Given the description of an element on the screen output the (x, y) to click on. 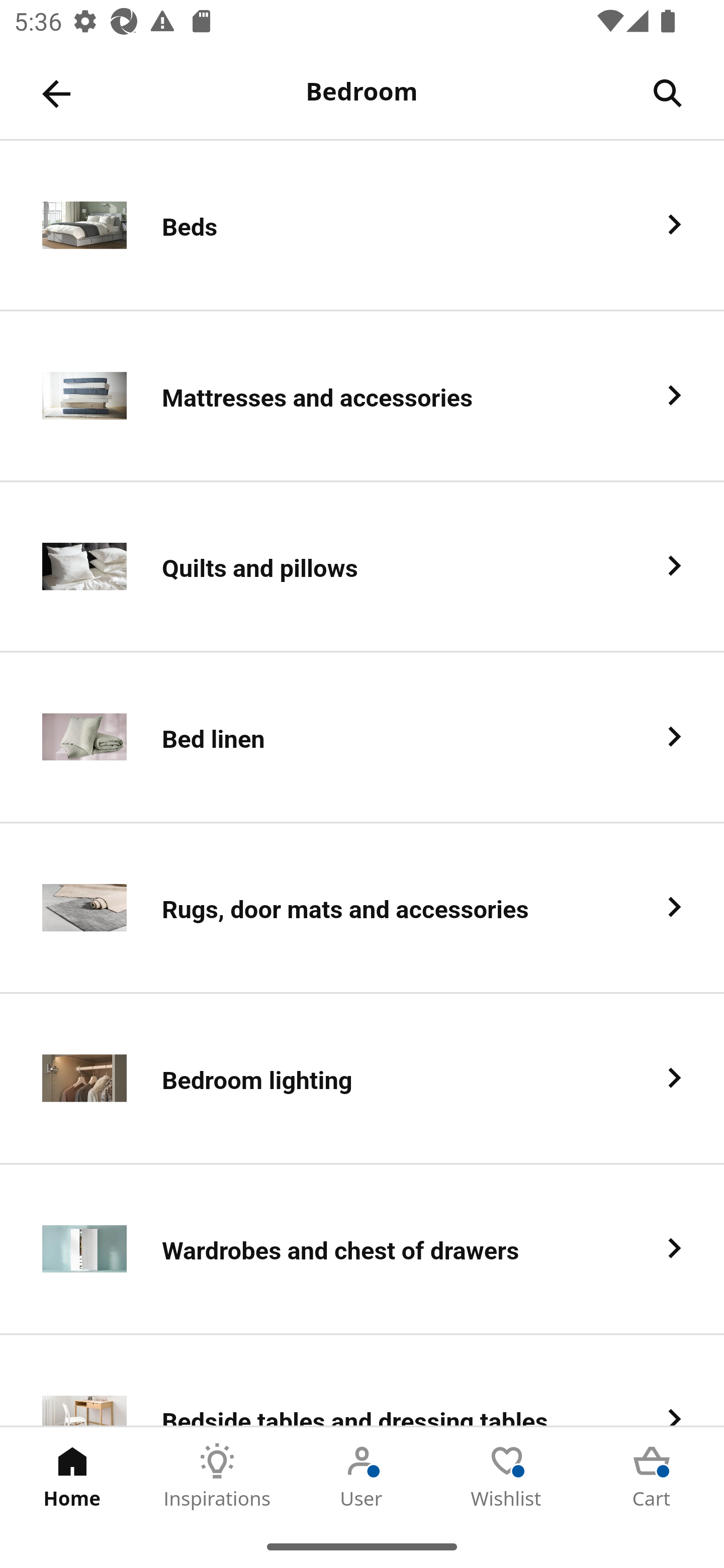
Beds (362, 226)
Mattresses and accessories (362, 396)
Quilts and pillows (362, 566)
Bed linen (362, 737)
Rugs, door mats and accessories (362, 908)
Bedroom lighting (362, 1079)
Wardrobes and chest of drawers (362, 1250)
Home
Tab 1 of 5 (72, 1476)
Inspirations
Tab 2 of 5 (216, 1476)
User
Tab 3 of 5 (361, 1476)
Wishlist
Tab 4 of 5 (506, 1476)
Cart
Tab 5 of 5 (651, 1476)
